Given the description of an element on the screen output the (x, y) to click on. 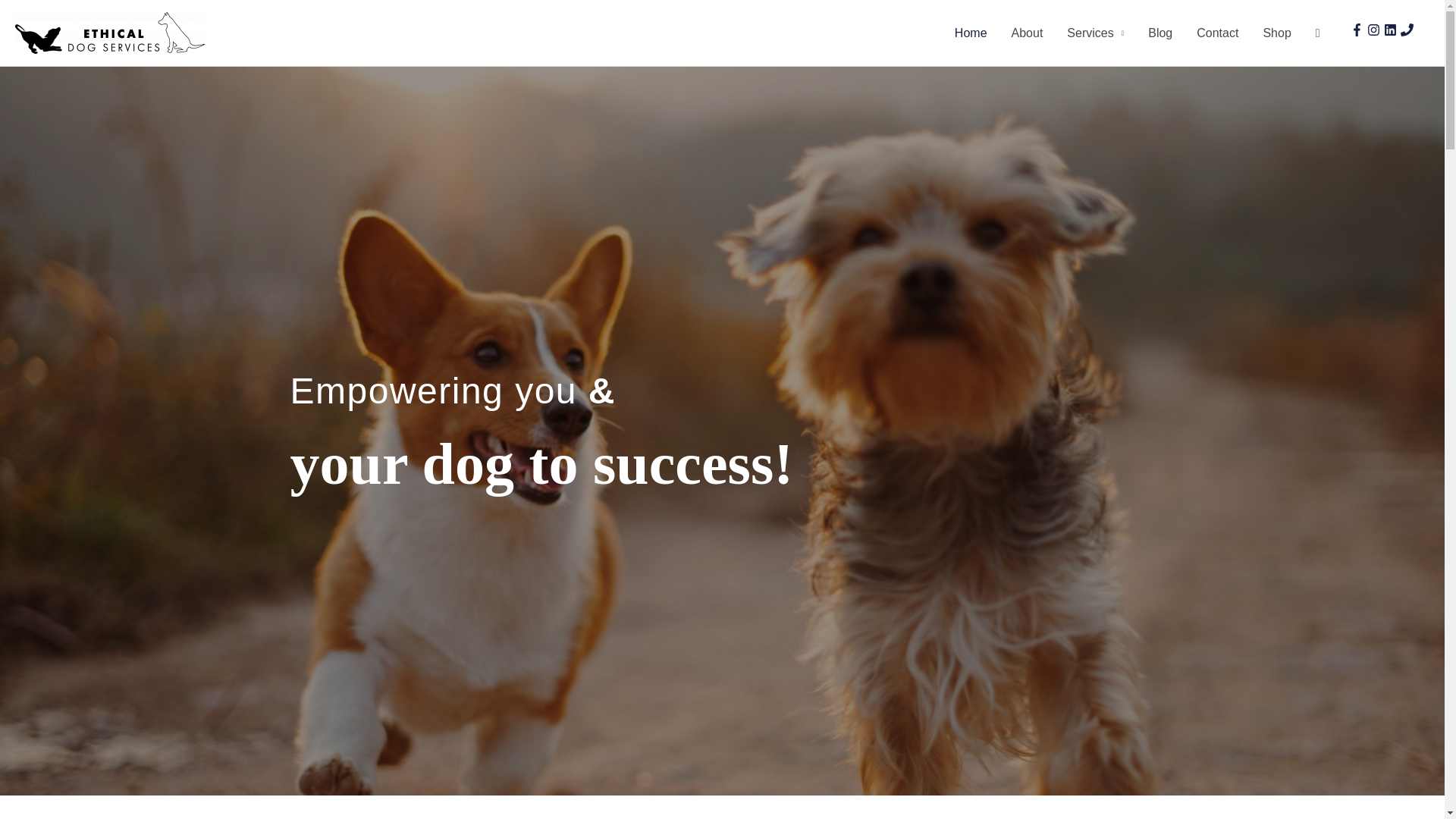
Contact (1217, 33)
Home (970, 33)
About (1026, 33)
Services (1094, 33)
Shop (1276, 33)
Blog (1160, 33)
